Given the description of an element on the screen output the (x, y) to click on. 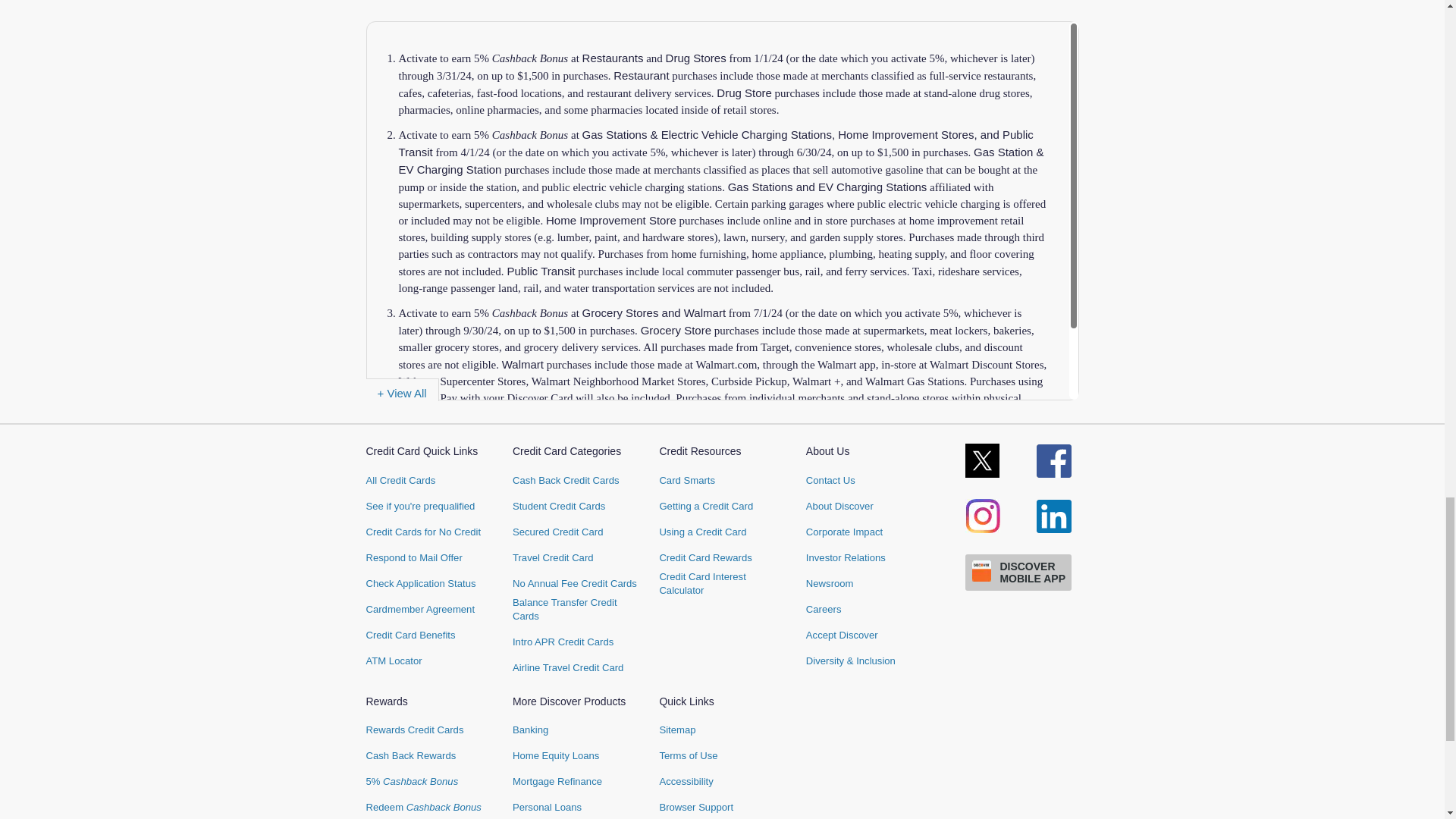
See if you're prequalified (419, 506)
All Credit Cards (400, 480)
Credit Cards for No Credit (422, 531)
